Given the description of an element on the screen output the (x, y) to click on. 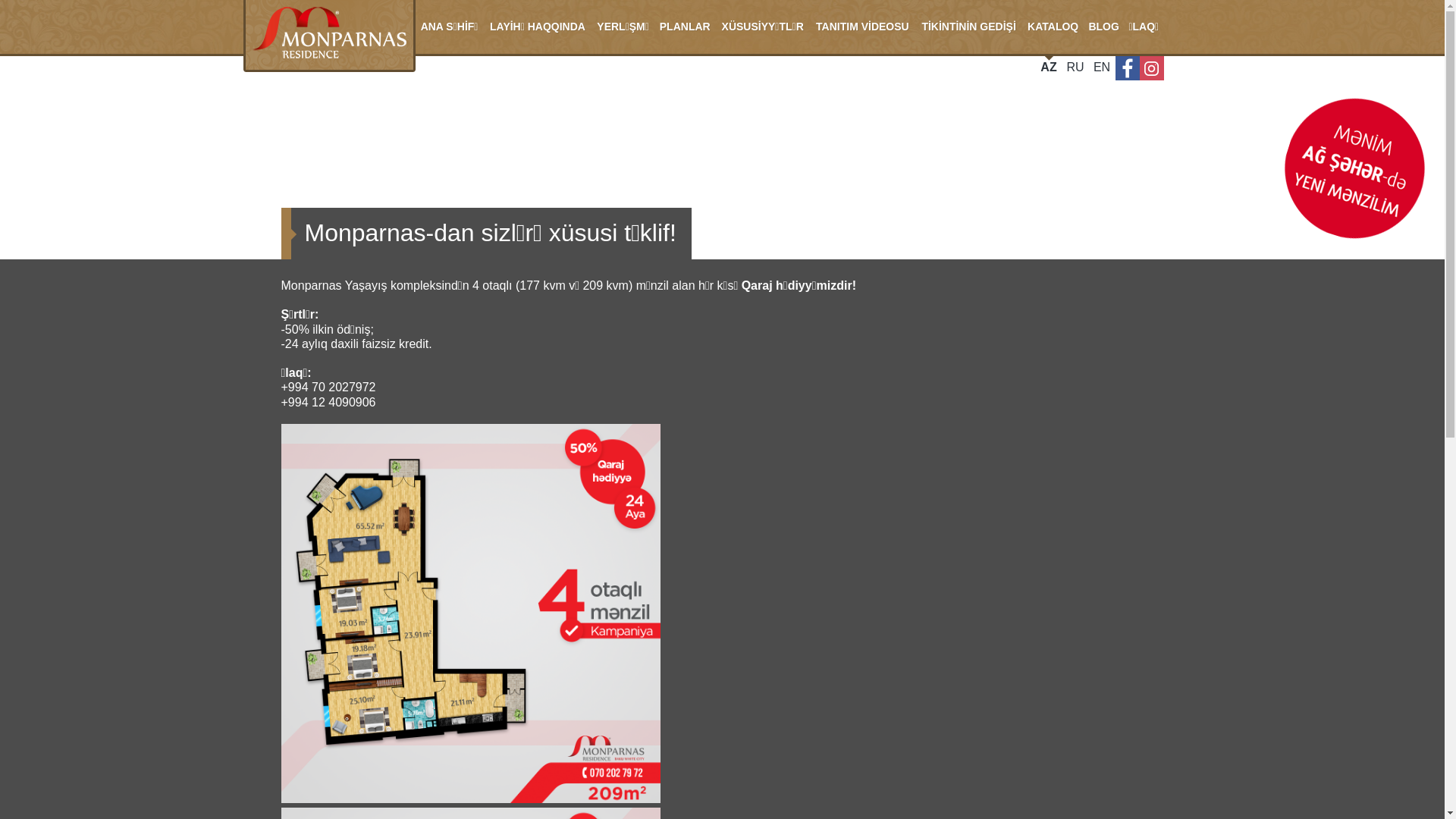
AZ Element type: text (1048, 67)
KATALOQ Element type: text (1052, 26)
BLOG Element type: text (1103, 26)
EN Element type: text (1101, 67)
MONPARNAS Element type: text (328, 36)
PLANLAR Element type: text (684, 26)
RU Element type: text (1074, 67)
LOGO Element type: text (1354, 168)
